Given the description of an element on the screen output the (x, y) to click on. 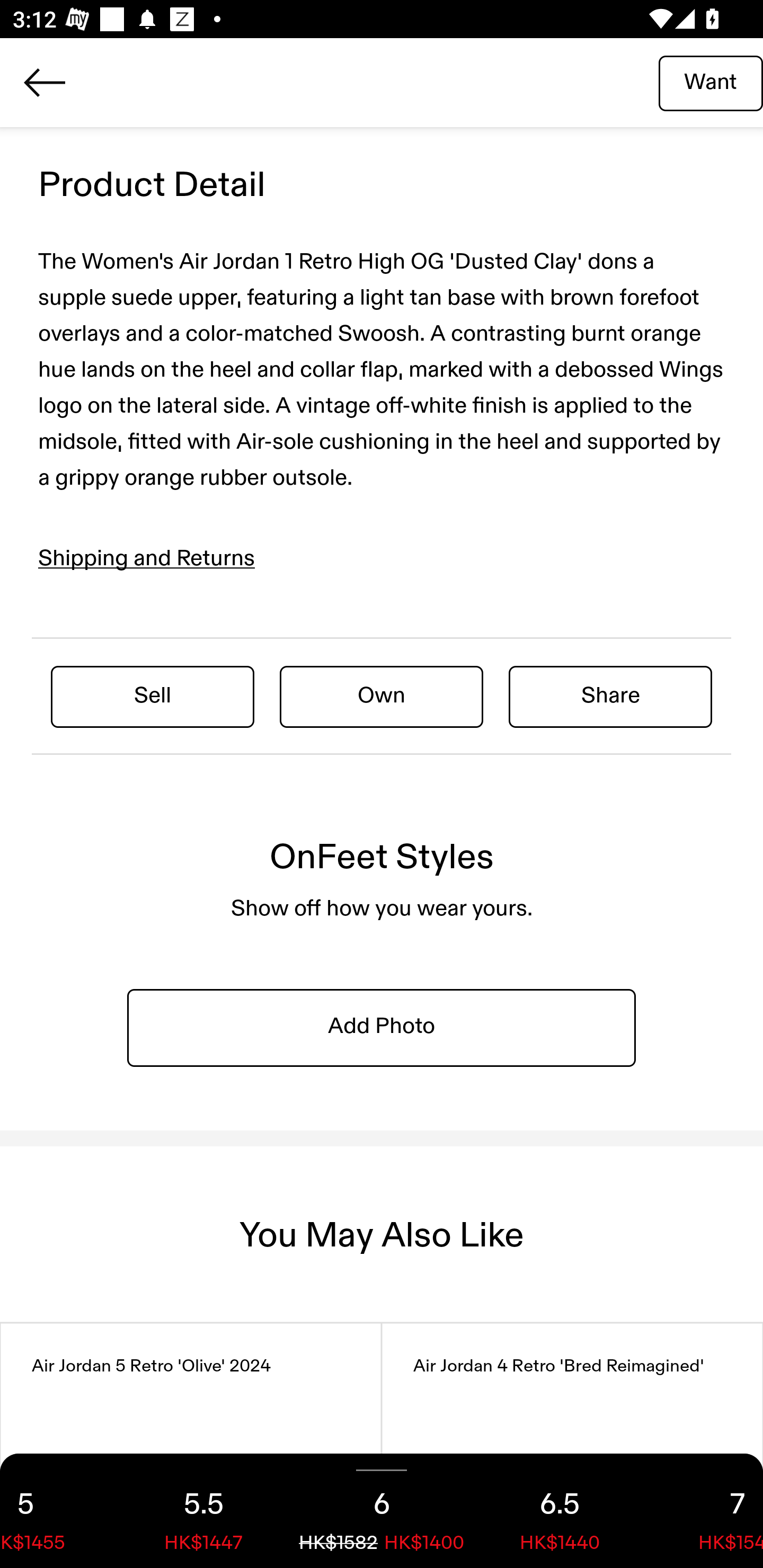
Want (710, 82)
Shipping and Returns (146, 558)
Sell (152, 695)
Own (381, 695)
Share (609, 695)
Add Photo (381, 1026)
Air Jordan 5 Retro 'Olive' 2024 (190, 1445)
Air Jordan 4 Retro 'Bred Reimagined' (572, 1445)
5 HK$1455 (57, 1510)
5.5 HK$1447 (203, 1510)
6 HK$1582 HK$1400 (381, 1510)
6.5 HK$1440 (559, 1510)
7 HK$1542 (705, 1510)
